Given the description of an element on the screen output the (x, y) to click on. 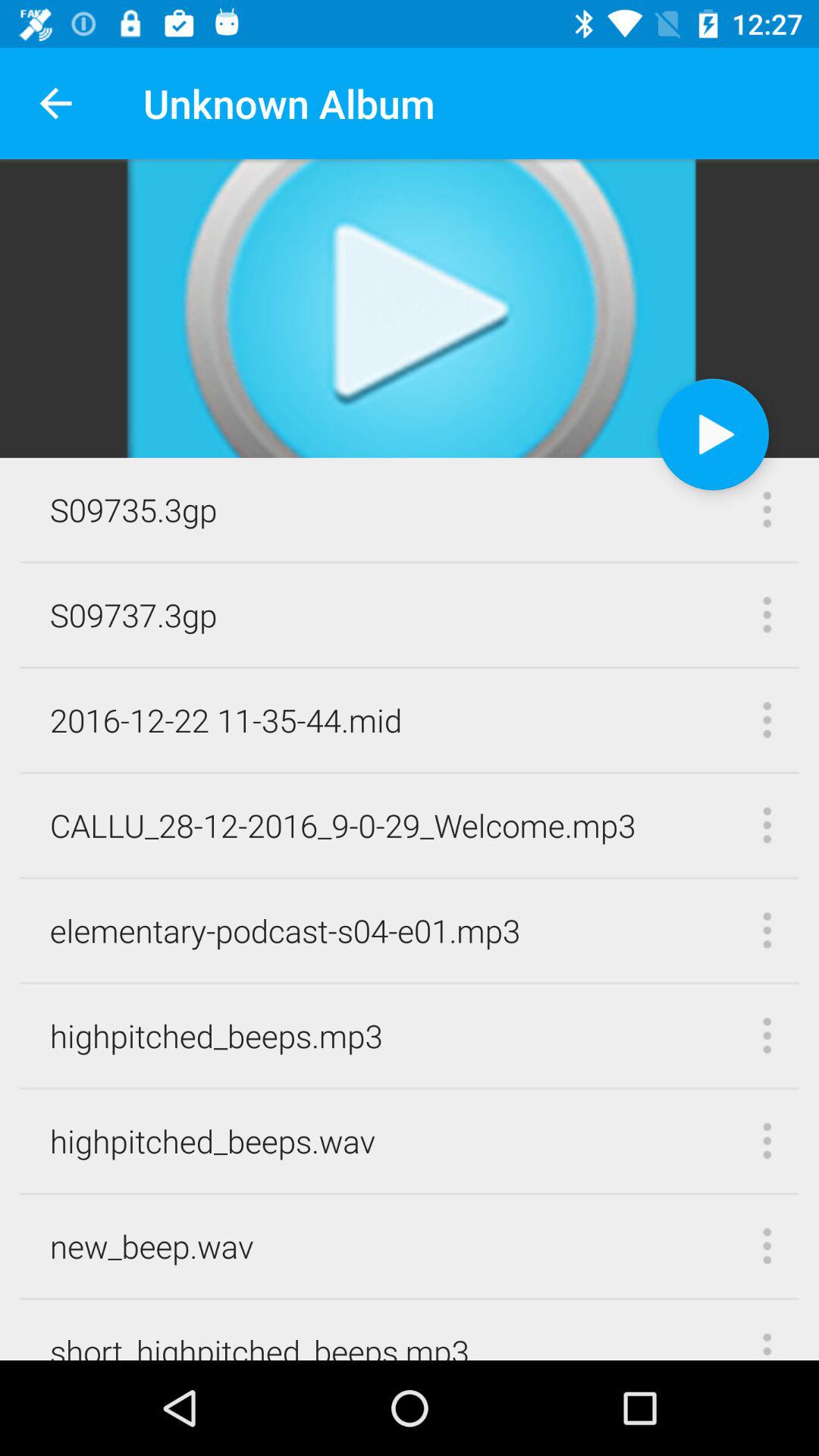
swipe to the elementary podcast s04 item (285, 930)
